Given the description of an element on the screen output the (x, y) to click on. 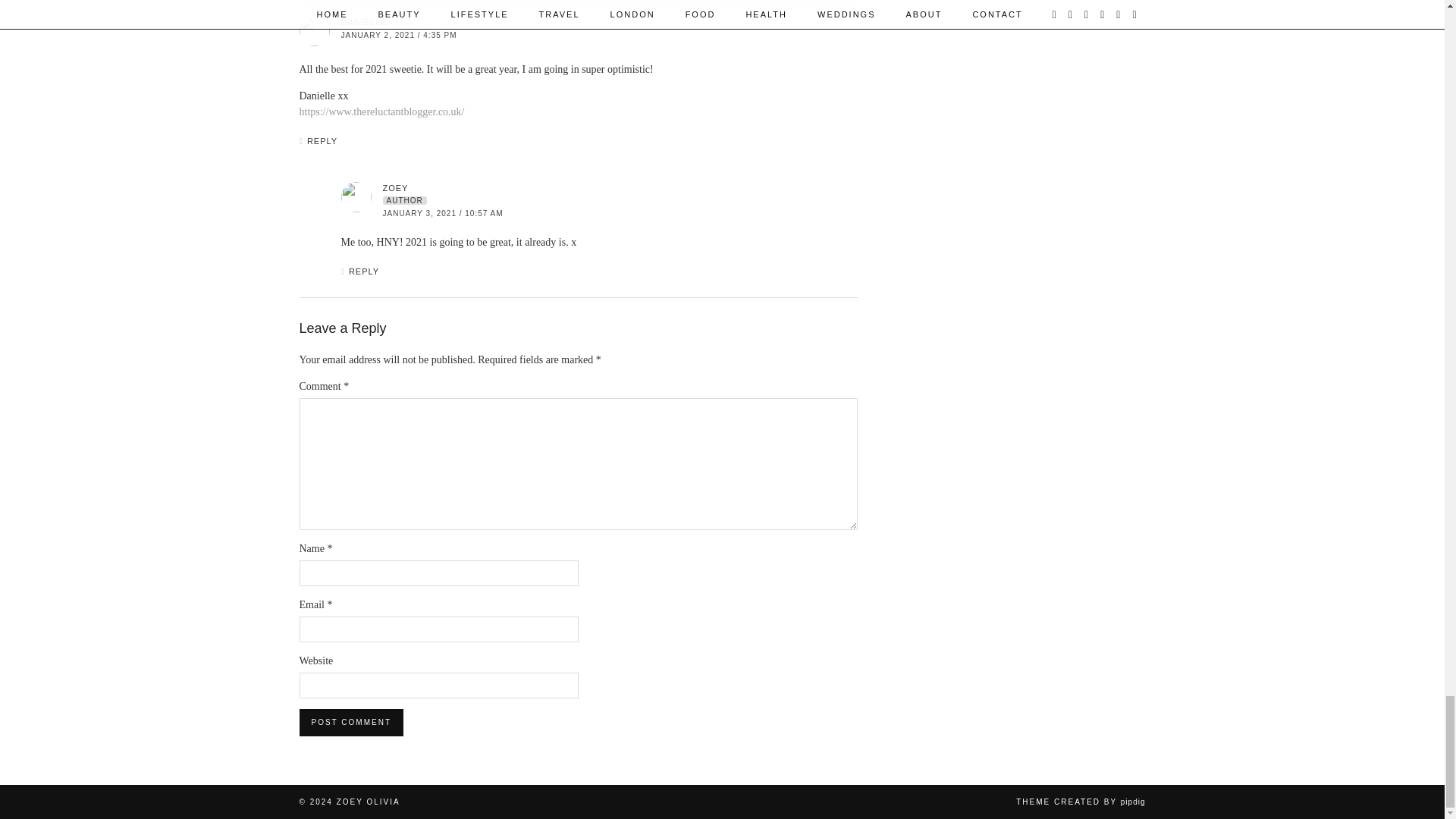
Post Comment (350, 722)
